Given the description of an element on the screen output the (x, y) to click on. 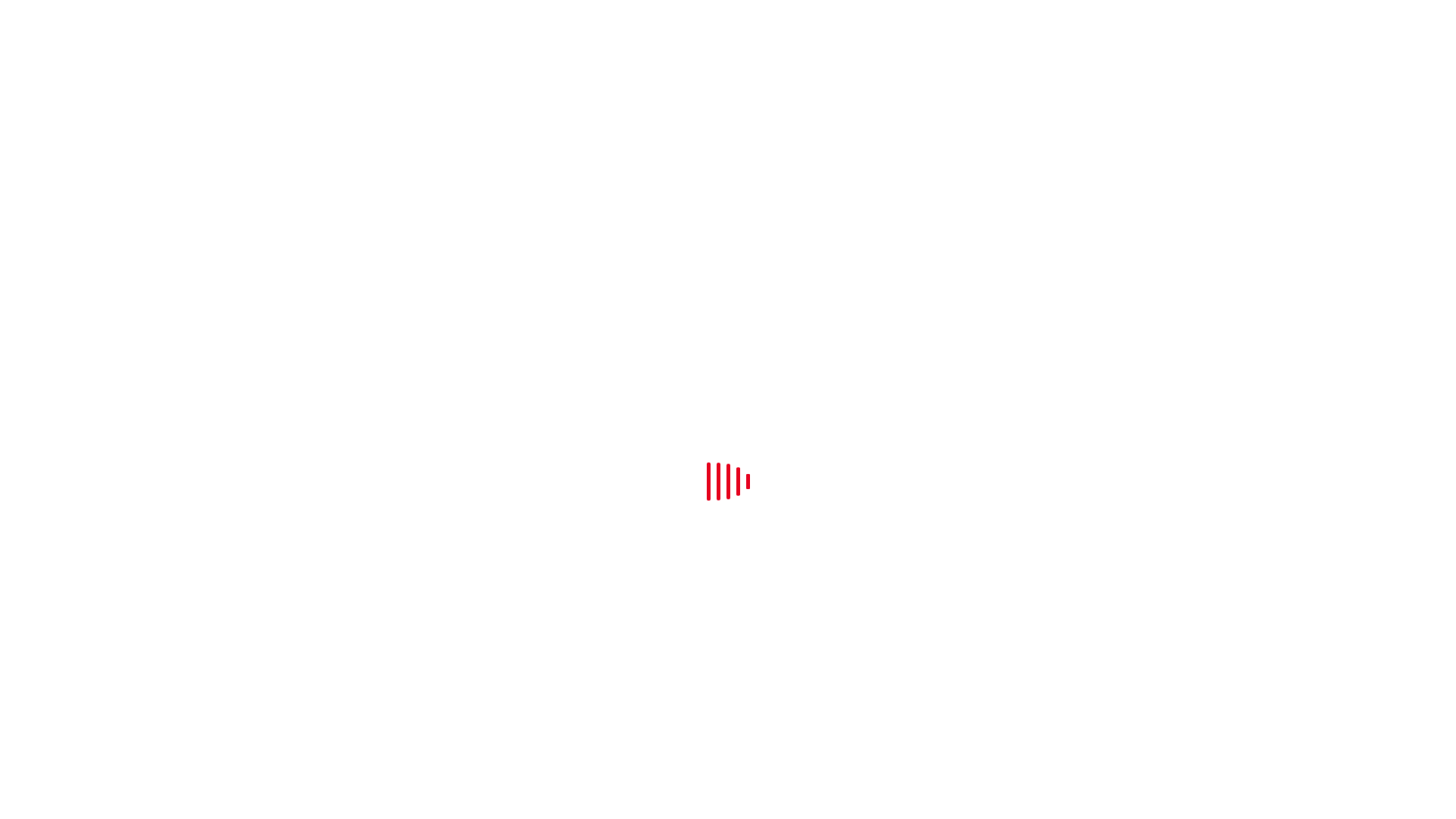
News / Updates Element type: text (68, 86)
Technical Info Element type: text (65, 59)
FAQ Element type: text (41, 72)
Product Range Element type: text (66, 45)
welcome Element type: text (52, 31)
Get A Quote / Contact Element type: text (84, 100)
